Given the description of an element on the screen output the (x, y) to click on. 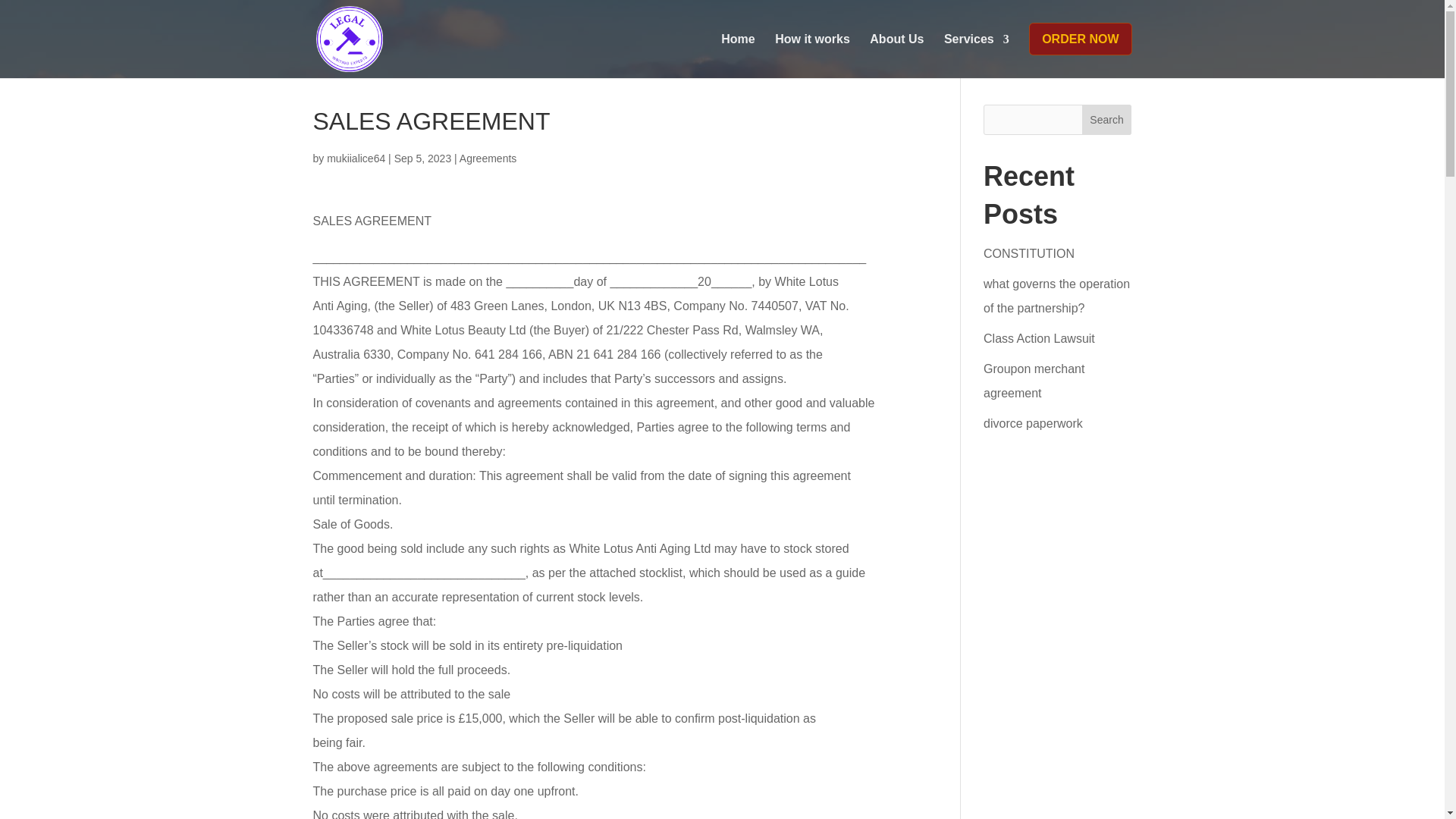
Home (737, 50)
divorce paperwork (1033, 422)
CONSTITUTION (1029, 253)
Groupon merchant agreement (1034, 380)
About Us (896, 50)
How it works (812, 50)
Class Action Lawsuit (1039, 338)
Agreements (488, 158)
Services (976, 50)
Search (1106, 119)
